Given the description of an element on the screen output the (x, y) to click on. 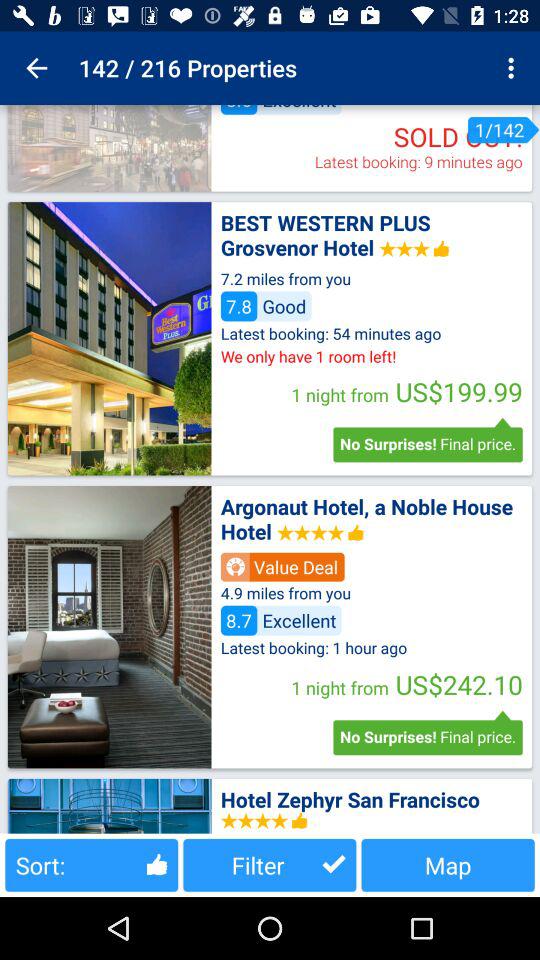
press box on left to view (109, 338)
